Given the description of an element on the screen output the (x, y) to click on. 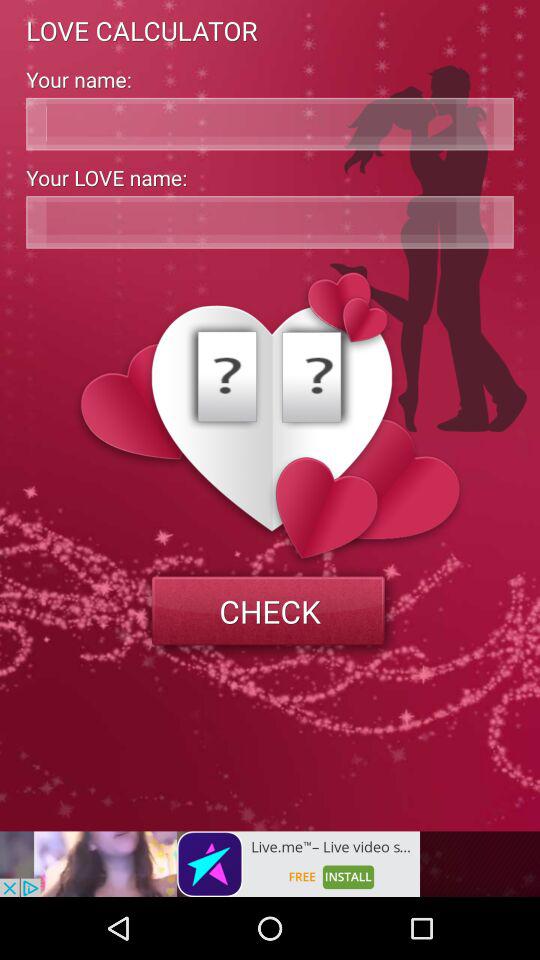
name (269, 123)
